Given the description of an element on the screen output the (x, y) to click on. 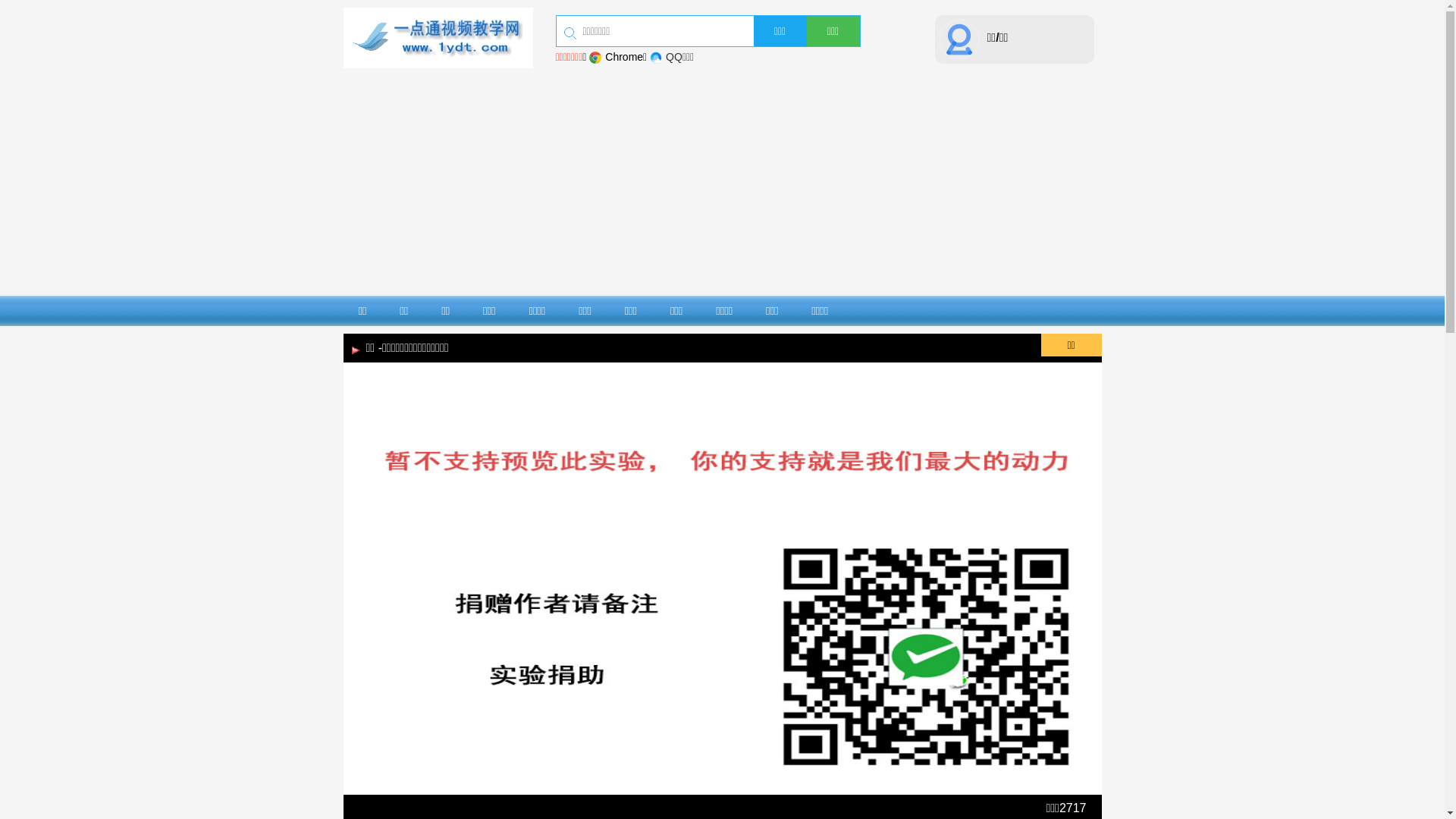
Advertisement Element type: hover (721, 181)
